Given the description of an element on the screen output the (x, y) to click on. 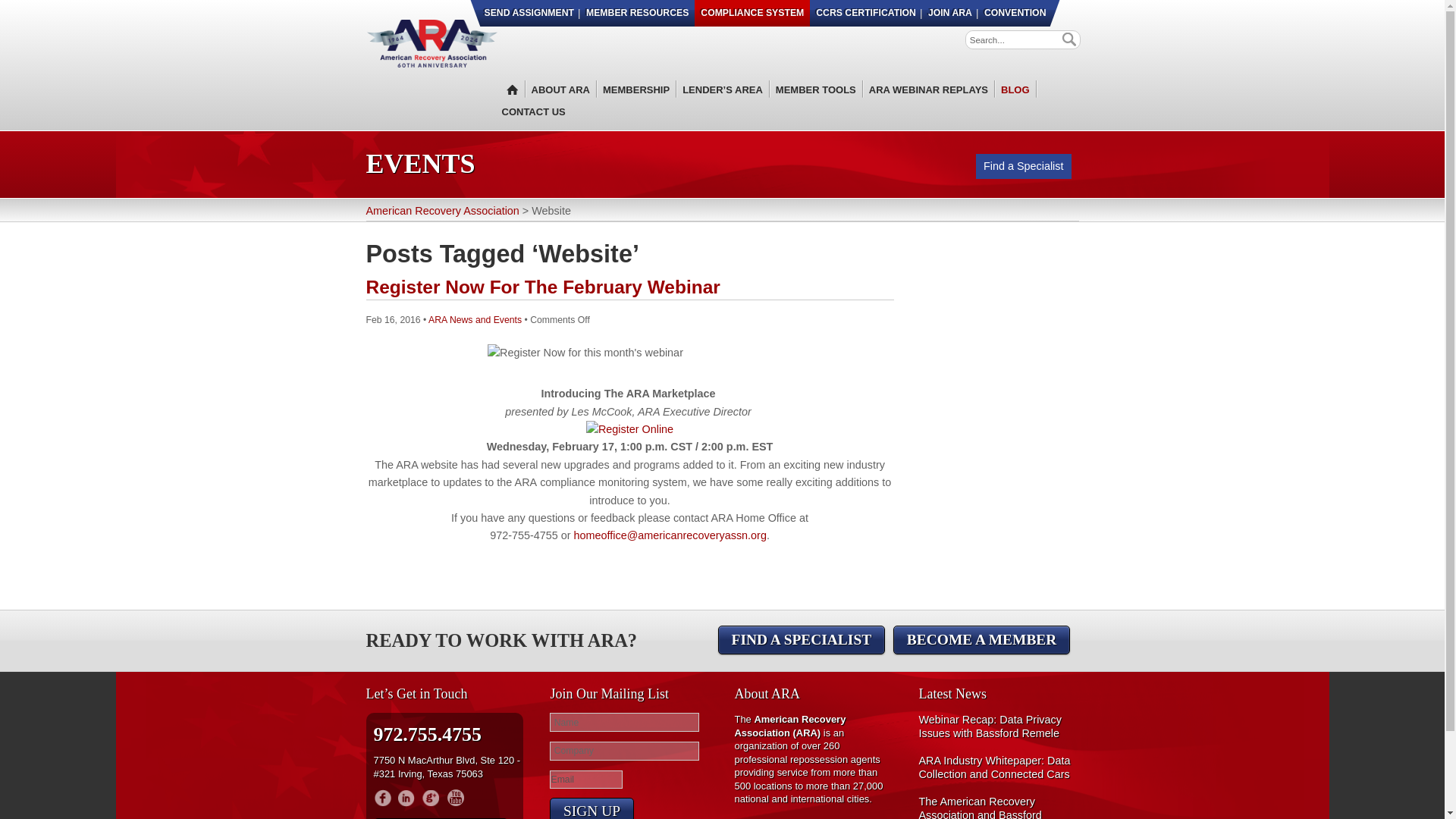
CCRS Certification (865, 13)
Compliance System (751, 13)
JOIN ARA (949, 13)
MEMBERSHIP (635, 89)
Email (586, 779)
COMPLIANCE SYSTEM (751, 13)
HOME (510, 89)
MEMBER RESOURCES (636, 13)
Member Resources (636, 13)
ARA Convention (1013, 13)
SEND ASSIGNMENT (529, 13)
Go to American Recovery Association. (441, 210)
Send Assignment (529, 13)
MEMBER TOOLS (816, 89)
Sign Up (591, 808)
